Given the description of an element on the screen output the (x, y) to click on. 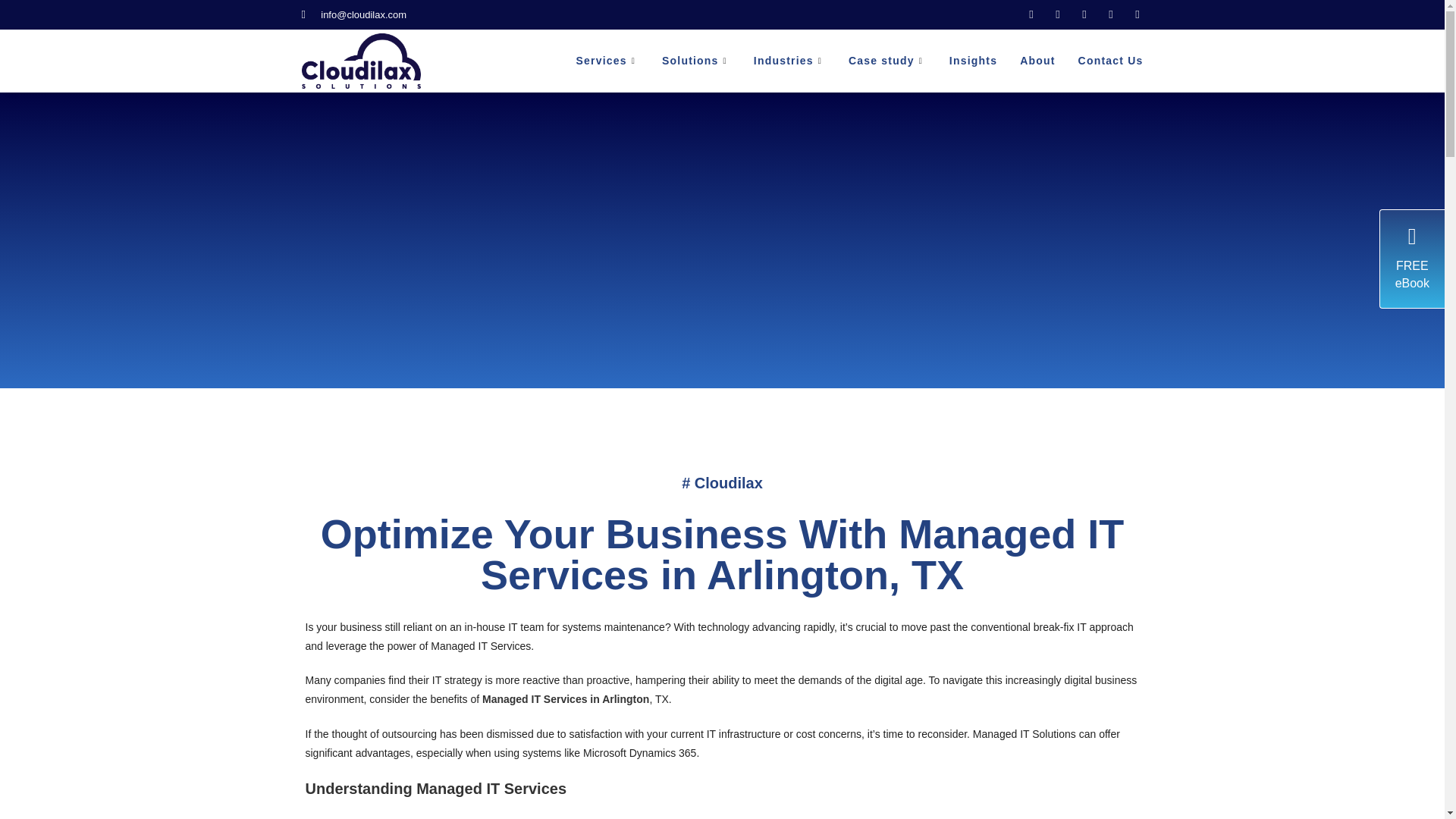
Services (607, 60)
